Given the description of an element on the screen output the (x, y) to click on. 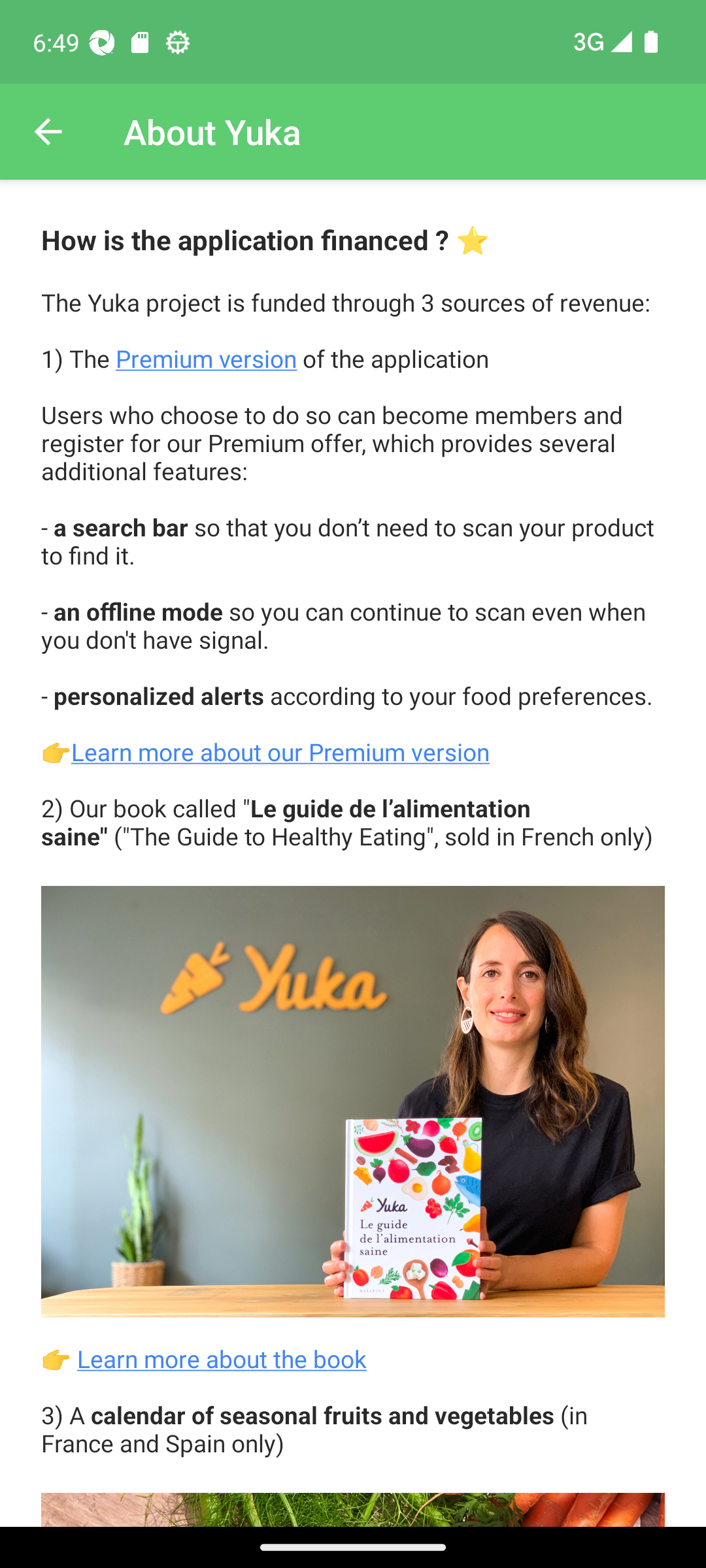
Navigate up (48, 131)
